Given the description of an element on the screen output the (x, y) to click on. 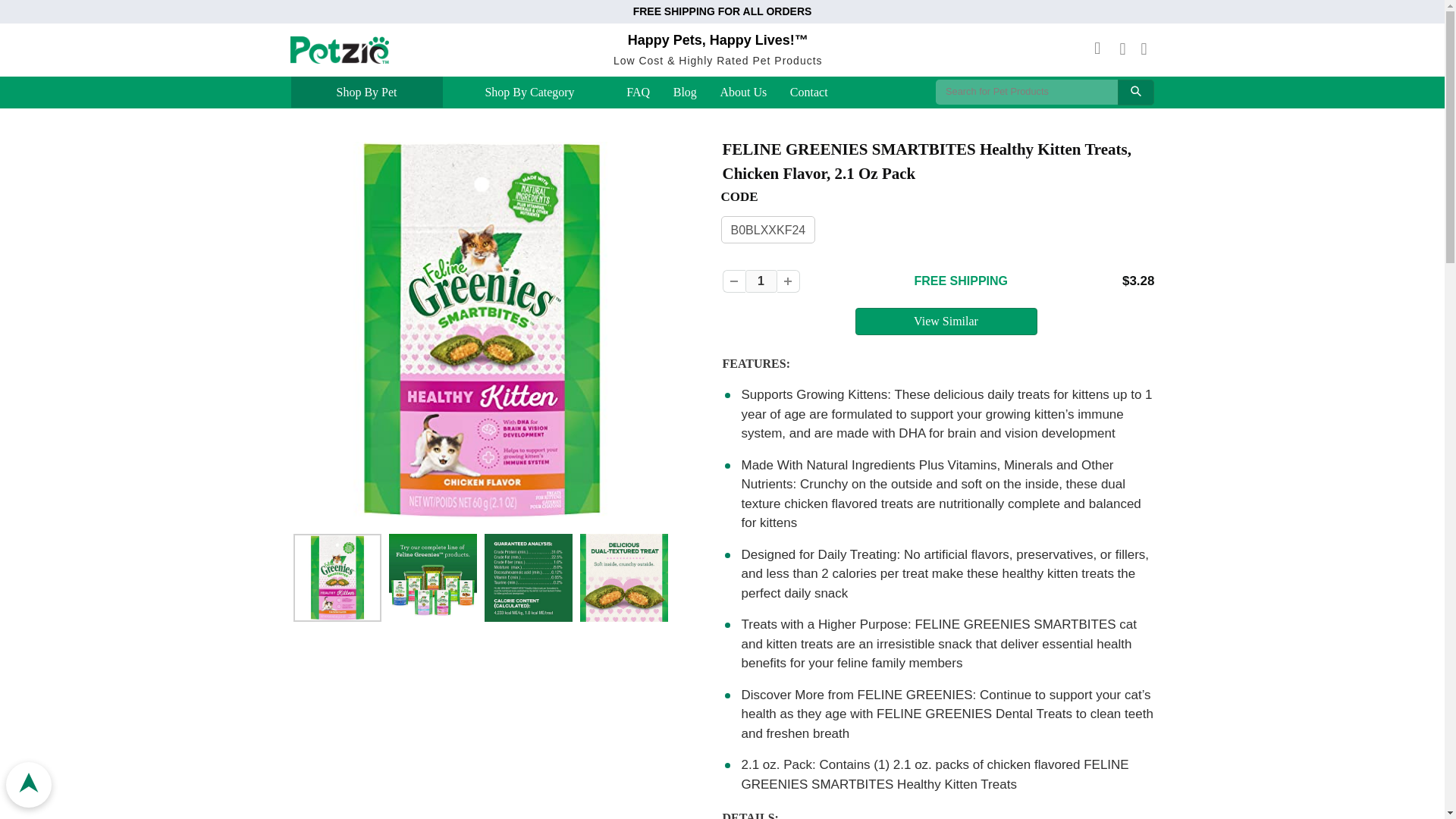
Shop By Pet (366, 92)
1 (760, 281)
